Given the description of an element on the screen output the (x, y) to click on. 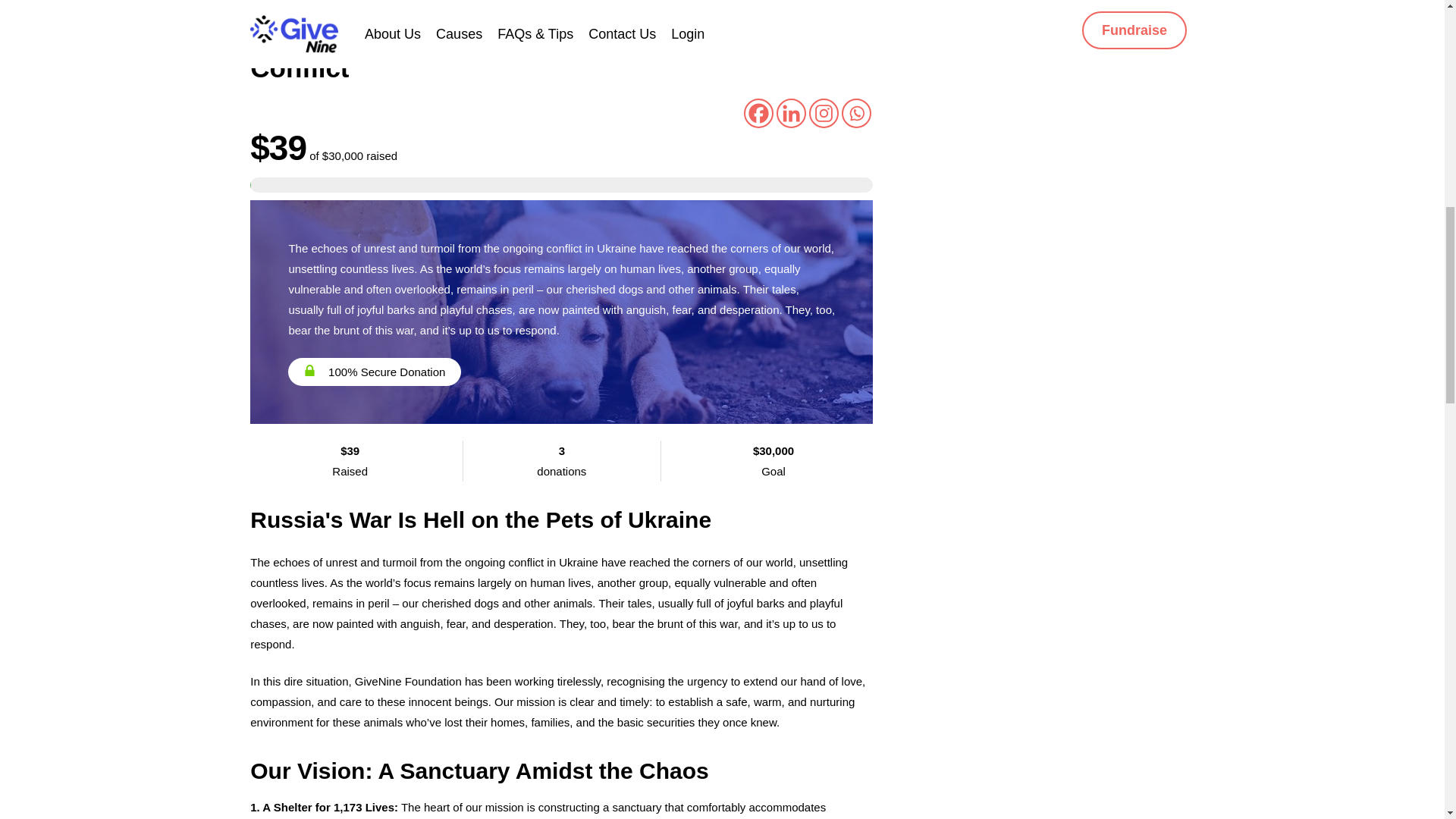
Facebook (758, 112)
Donation protected (312, 2)
Linkedin (791, 112)
Whatsapp (855, 112)
Instagram (823, 112)
